Given the description of an element on the screen output the (x, y) to click on. 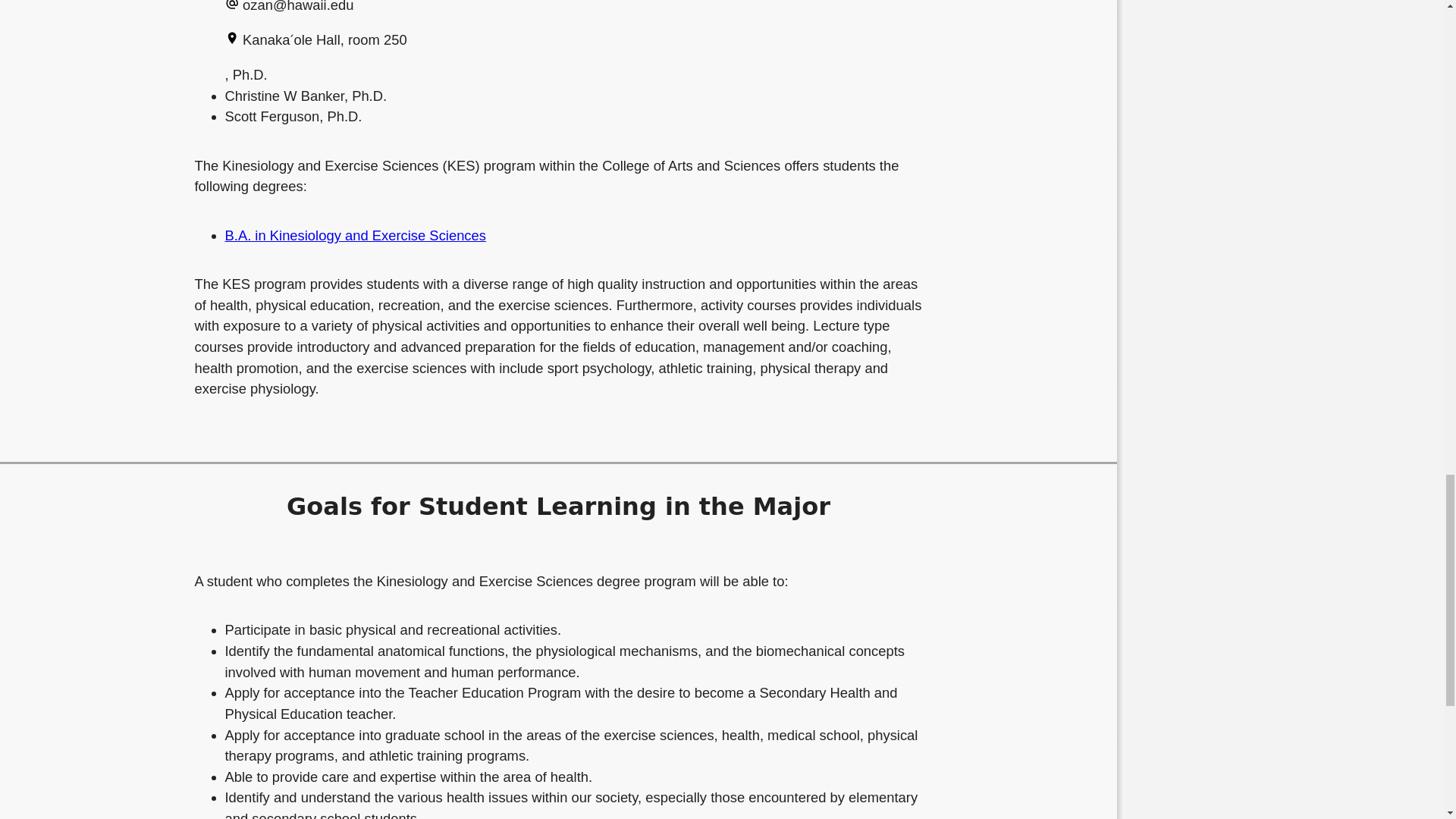
B.A. in Kinesiology and Exercise Sciences (355, 235)
